Given the description of an element on the screen output the (x, y) to click on. 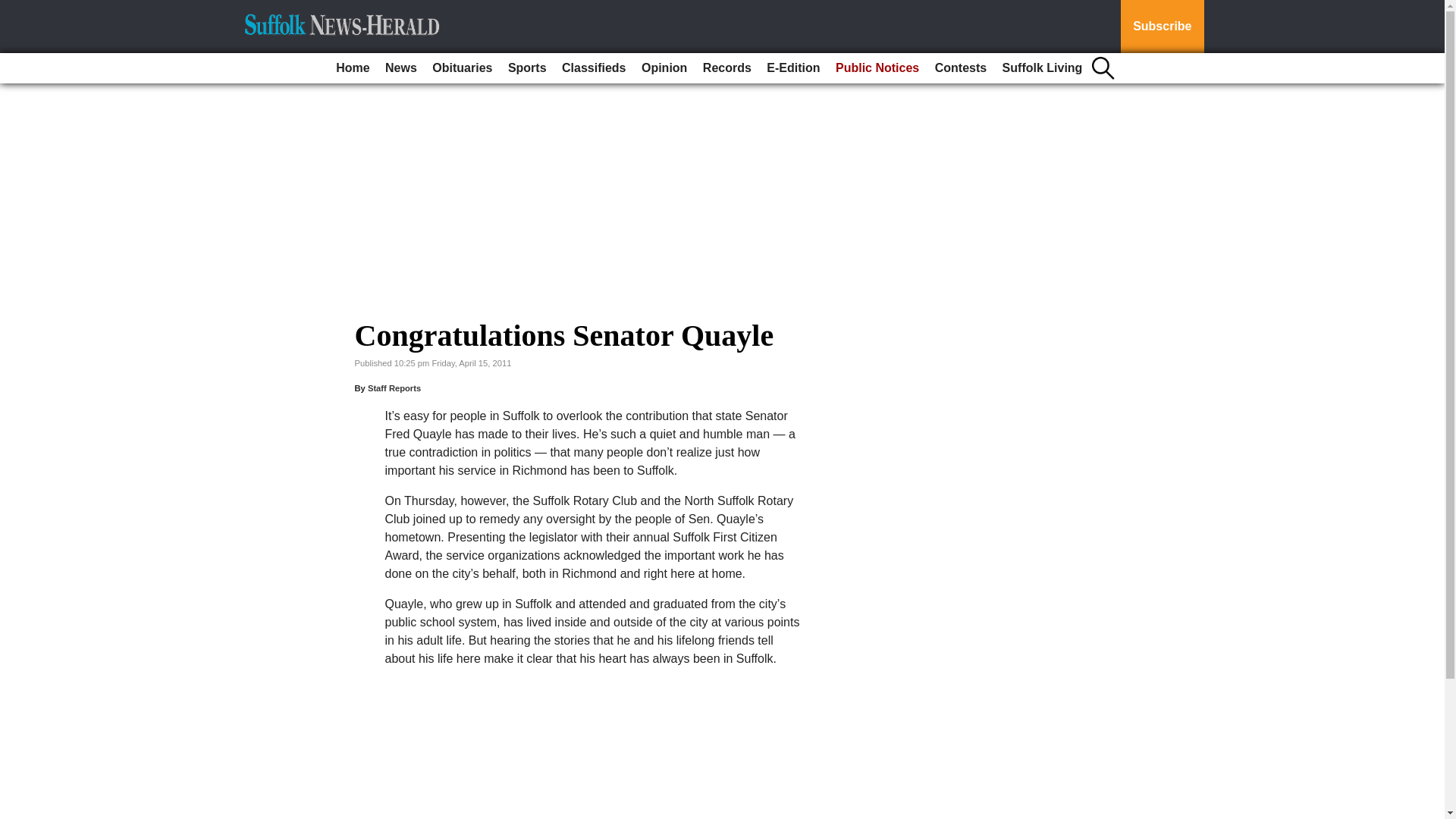
E-Edition (792, 68)
Opinion (663, 68)
Sports (527, 68)
Contests (960, 68)
Home (352, 68)
Go (13, 9)
Staff Reports (394, 388)
Public Notices (876, 68)
Suffolk Living (1042, 68)
News (400, 68)
Subscribe (1162, 26)
Records (727, 68)
Classifieds (593, 68)
Obituaries (461, 68)
